Given the description of an element on the screen output the (x, y) to click on. 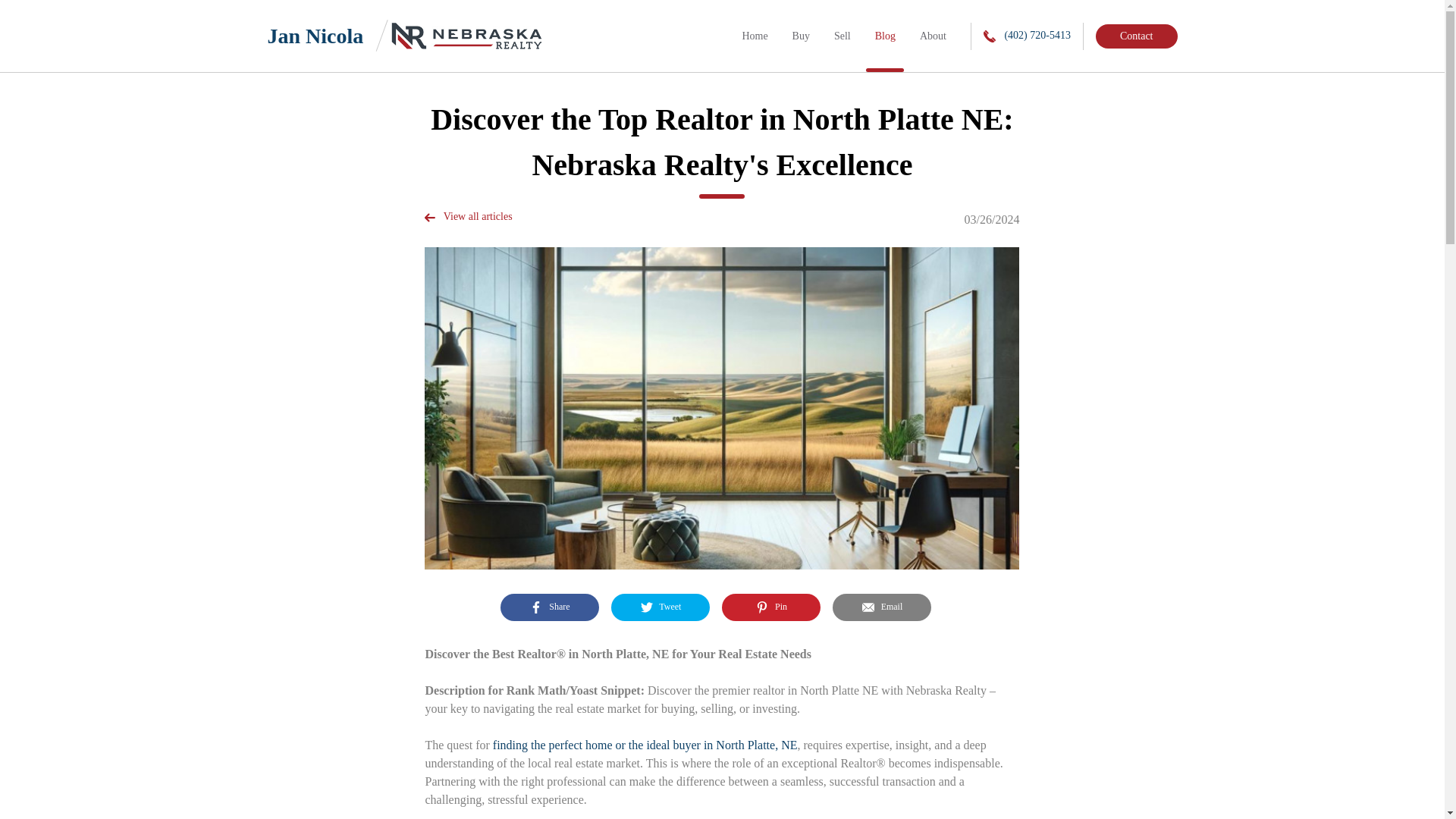
  View all articles (468, 216)
Jan Nicola (320, 35)
  Pin (771, 606)
  Tweet (660, 606)
  Share (549, 606)
  Email (881, 606)
Contact (1136, 36)
